Given the description of an element on the screen output the (x, y) to click on. 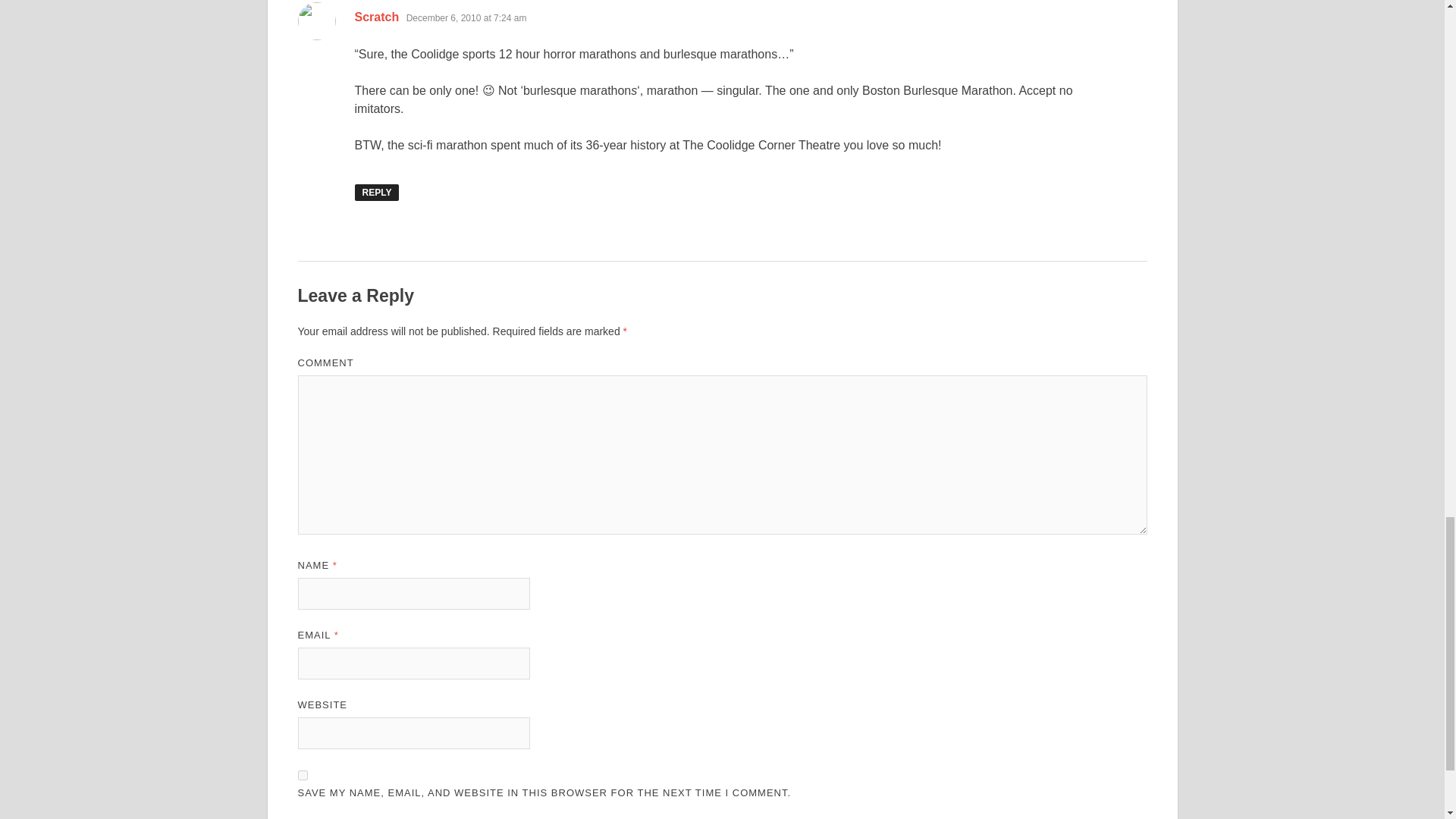
December 6, 2010 at 7:24 am (466, 18)
Scratch (376, 16)
REPLY (376, 192)
yes (302, 775)
